Given the description of an element on the screen output the (x, y) to click on. 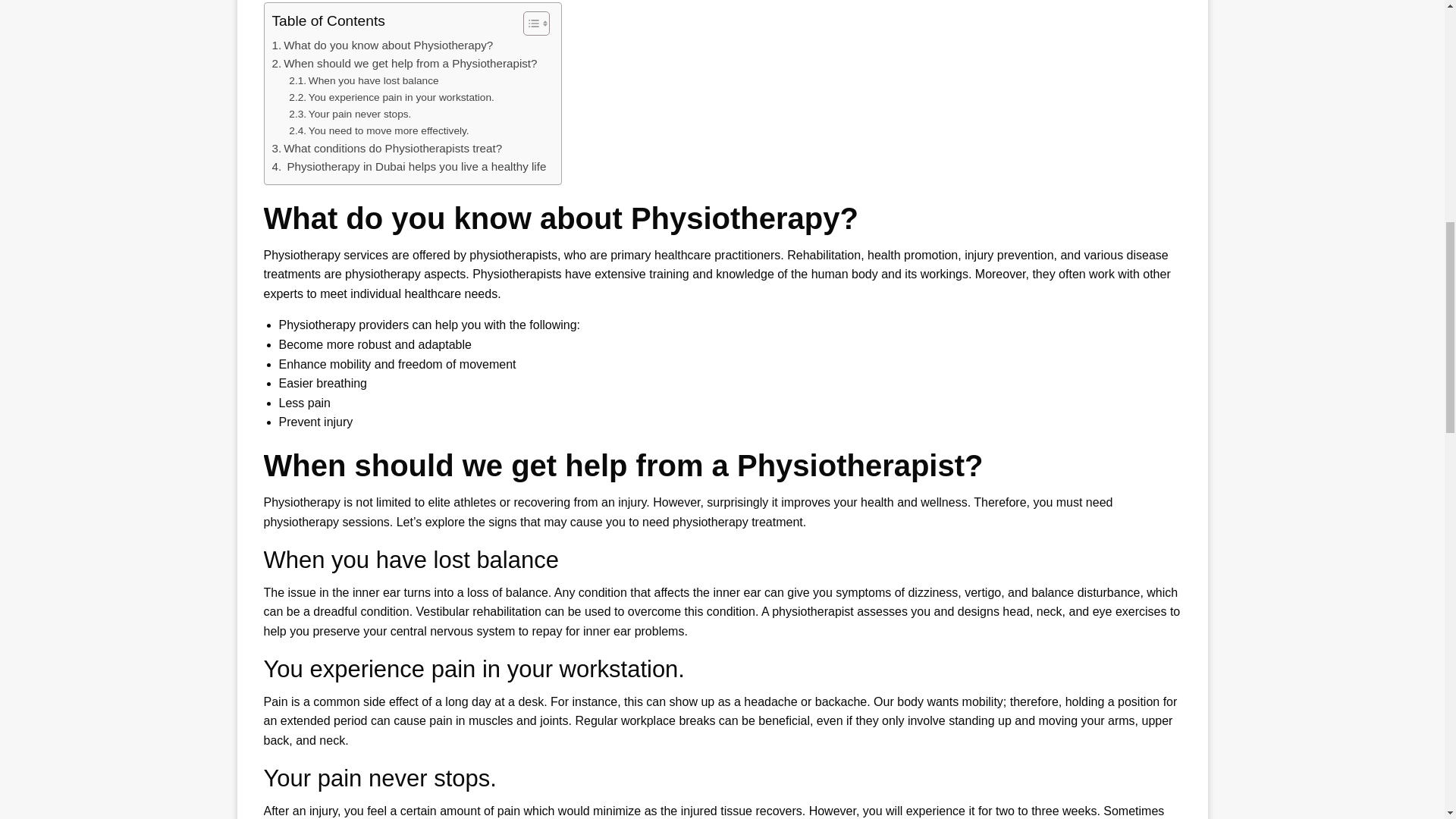
What conditions do Physiotherapists treat? (386, 148)
When you have lost balance (363, 80)
When you have lost balance (363, 80)
You experience pain in your workstation. (391, 97)
You need to move more effectively. (378, 130)
When should we get help from a Physiotherapist? (403, 63)
What do you know about Physiotherapy? (381, 45)
What do you know about Physiotherapy? (381, 45)
When should we get help from a Physiotherapist? (403, 63)
 Physiotherapy in Dubai helps you live a healthy life (408, 167)
